Given the description of an element on the screen output the (x, y) to click on. 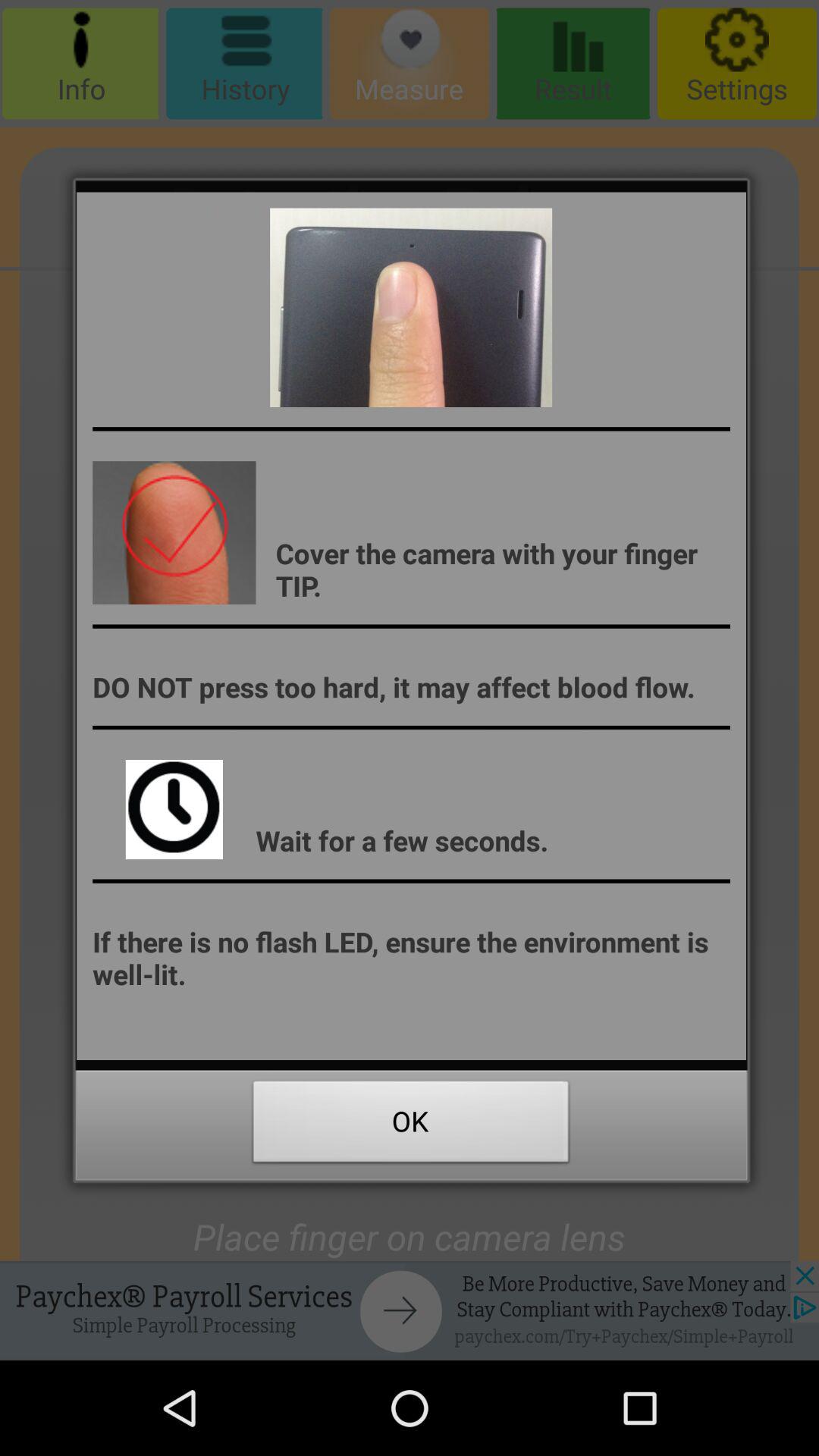
click ok at the bottom (410, 1125)
